Given the description of an element on the screen output the (x, y) to click on. 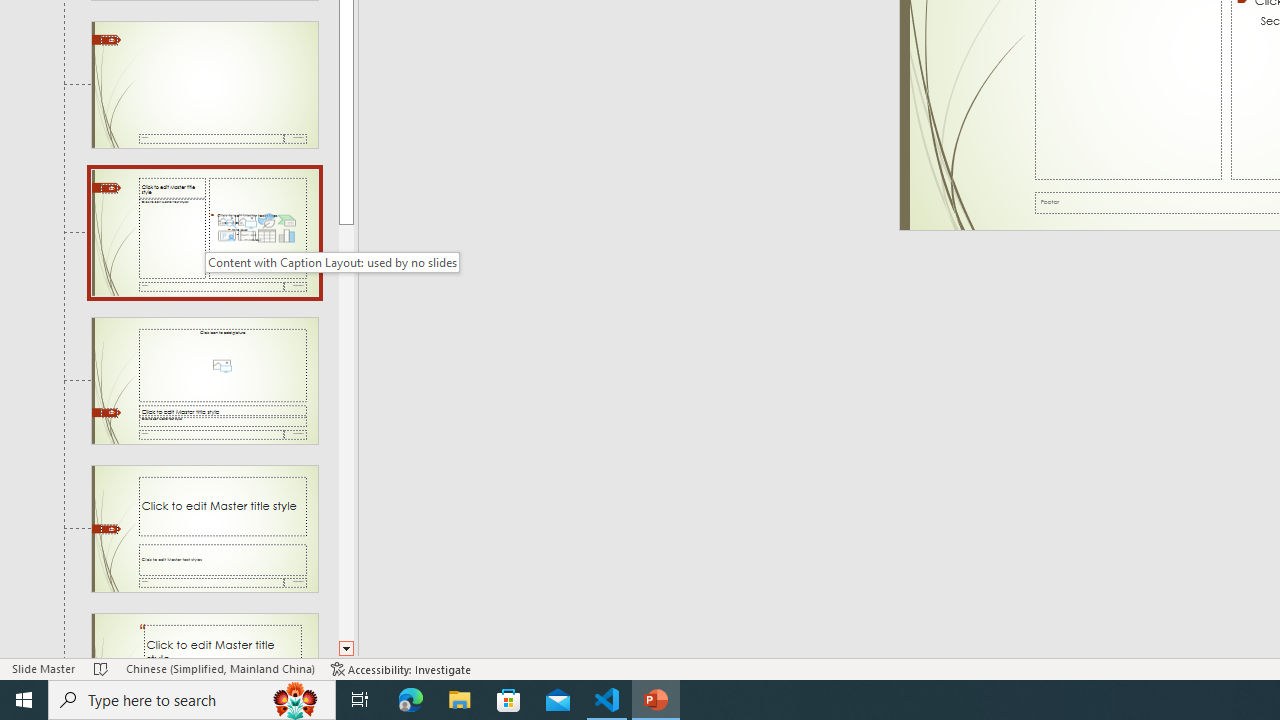
Slide Title and Caption Layout: used by no slides (204, 528)
Slide Picture with Caption Layout: used by no slides (204, 381)
Slide Blank Layout: used by no slides (204, 85)
Slide Quote with Caption Layout: used by no slides (204, 636)
Slide Content with Caption Layout: used by no slides (204, 232)
